Given the description of an element on the screen output the (x, y) to click on. 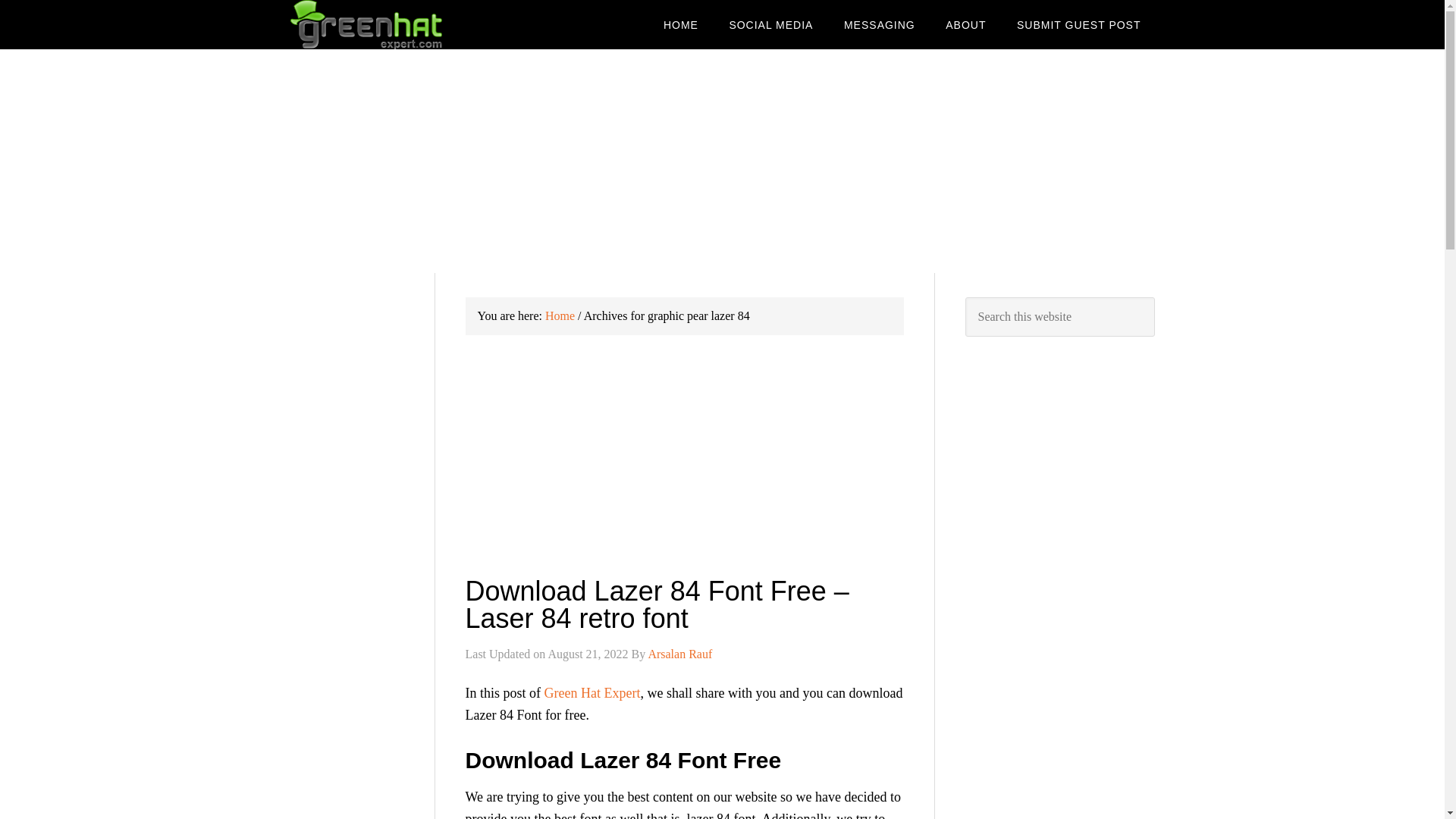
HOME (680, 24)
Home (559, 315)
SOCIAL MEDIA (770, 24)
Green Hat Expert (592, 693)
GREEN HAT EXPERT (410, 24)
Advertisement (346, 814)
MESSAGING (878, 24)
Advertisement (684, 465)
ABOUT (964, 24)
SUBMIT GUEST POST (1078, 24)
Arsalan Rauf (679, 653)
